Given the description of an element on the screen output the (x, y) to click on. 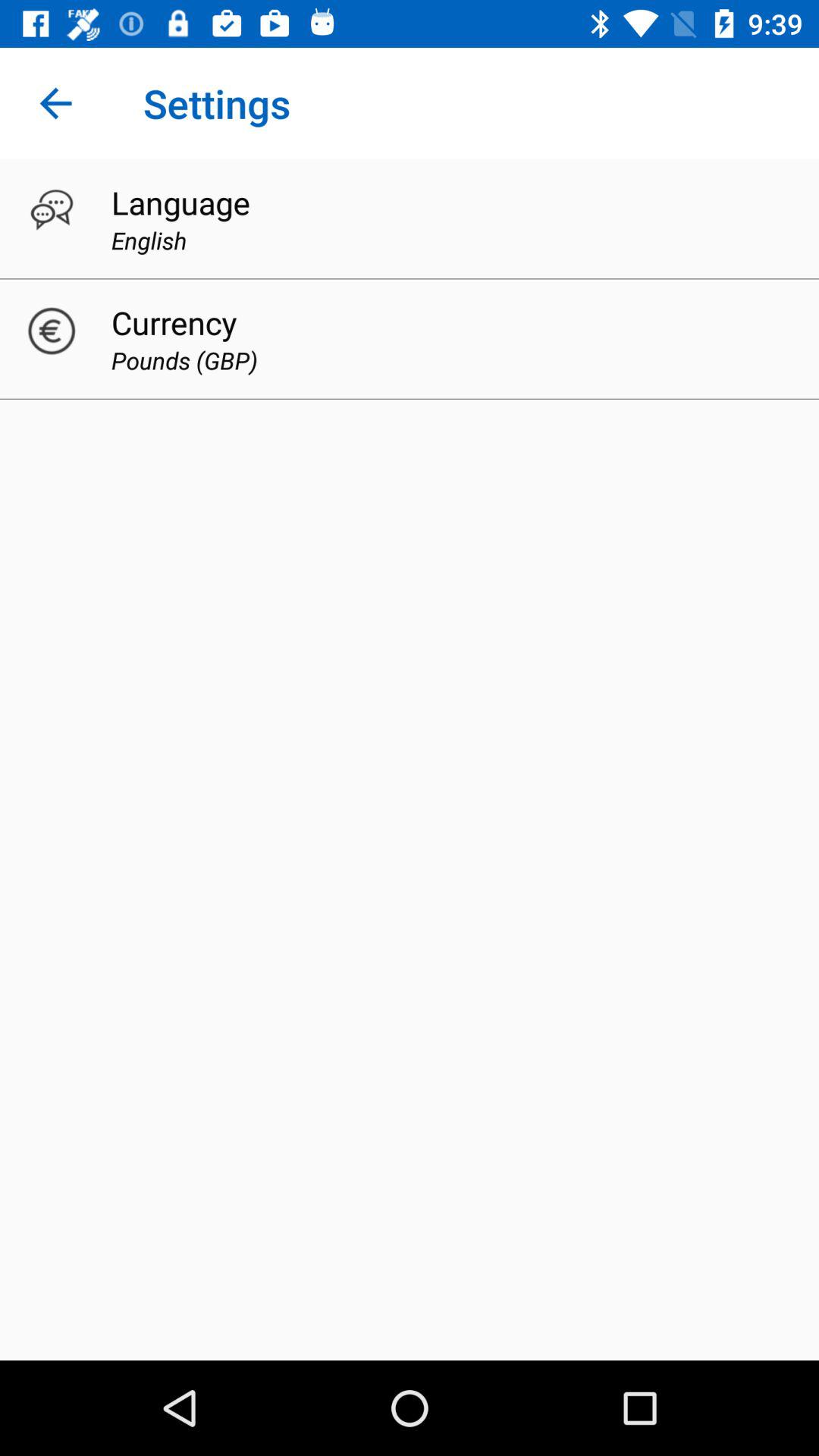
turn on the item to the left of the settings app (55, 103)
